Given the description of an element on the screen output the (x, y) to click on. 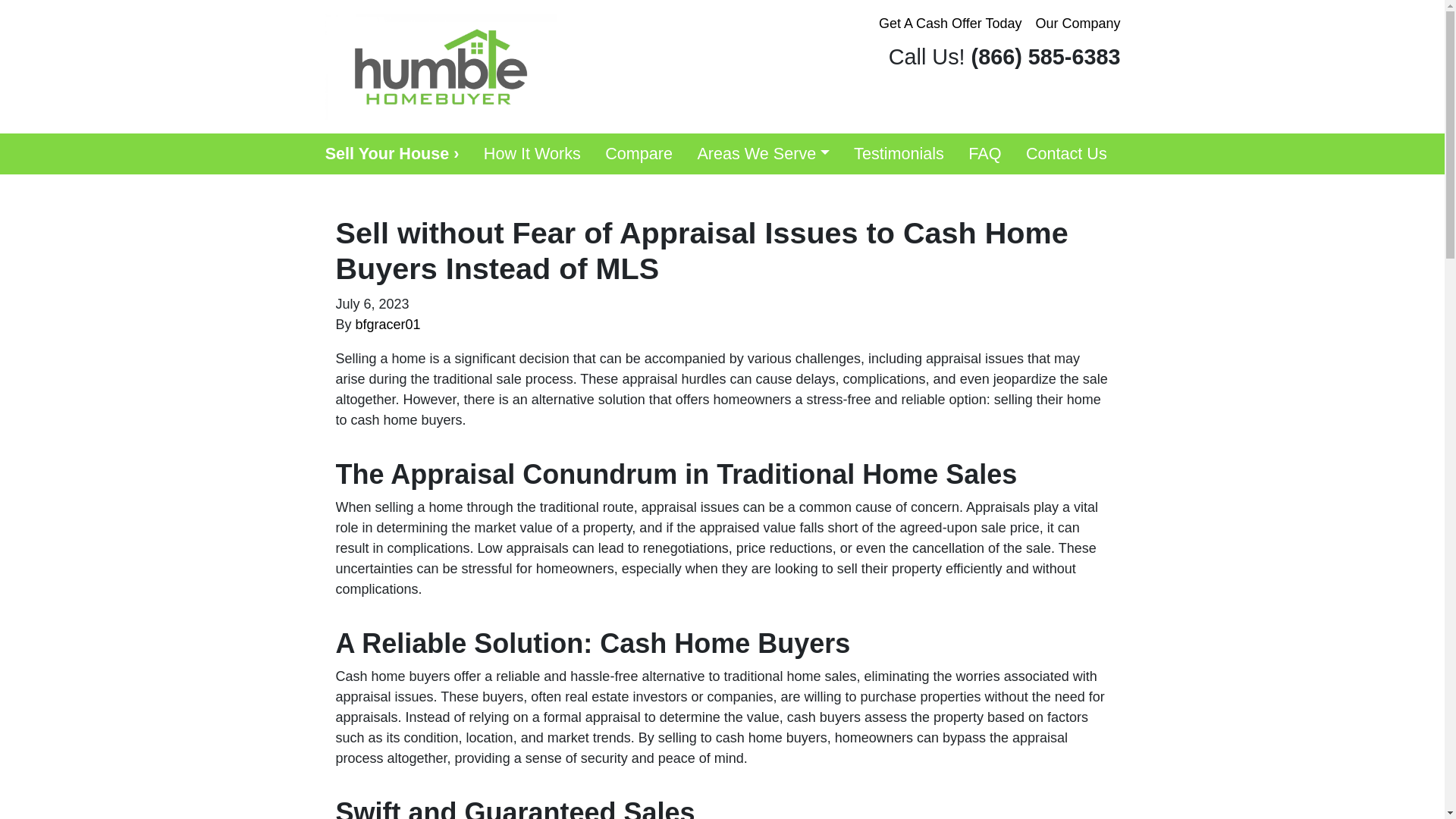
Testimonials (898, 153)
Contact Us (1066, 153)
How It Works (531, 153)
Areas We Serve (762, 153)
Areas We Serve (762, 153)
FAQ (984, 153)
bfgracer01 (387, 324)
Compare (638, 153)
How It Works (531, 153)
Testimonials (898, 153)
Our Company (1076, 23)
Get A Cash Offer Today (949, 23)
Compare (638, 153)
